Given the description of an element on the screen output the (x, y) to click on. 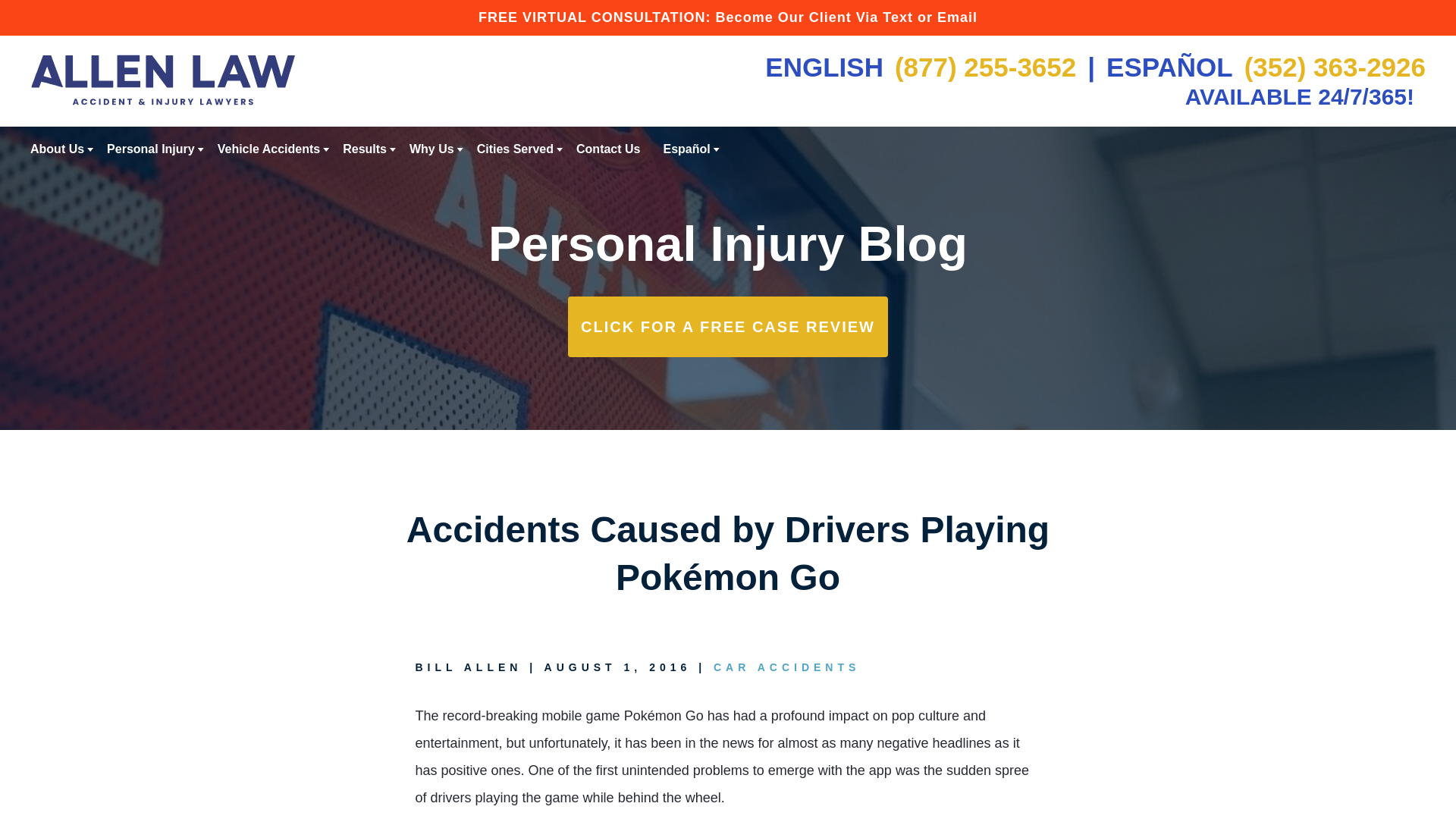
Personal Injury (150, 148)
Vehicle Accidents (268, 148)
Why Us (431, 148)
Results (364, 148)
Cities Served (515, 148)
About Us (57, 148)
CLICK FOR A FREE CASE REVIEW (727, 326)
Contact Us (608, 148)
